Given the description of an element on the screen output the (x, y) to click on. 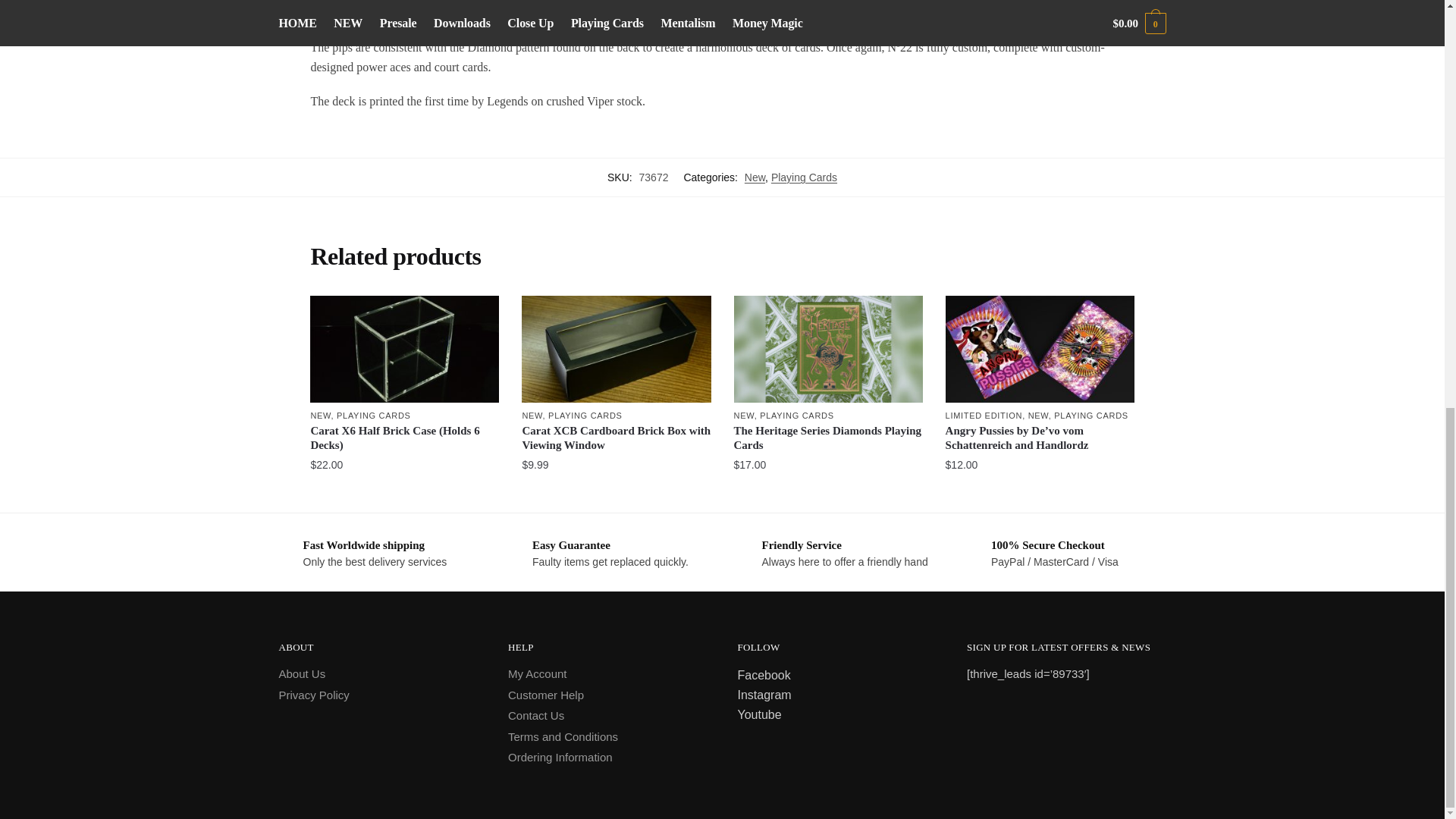
Carat XCB Cardboard Brick Box with Viewing Window (615, 348)
The Heritage Series Diamonds Playing Cards (828, 348)
